Given the description of an element on the screen output the (x, y) to click on. 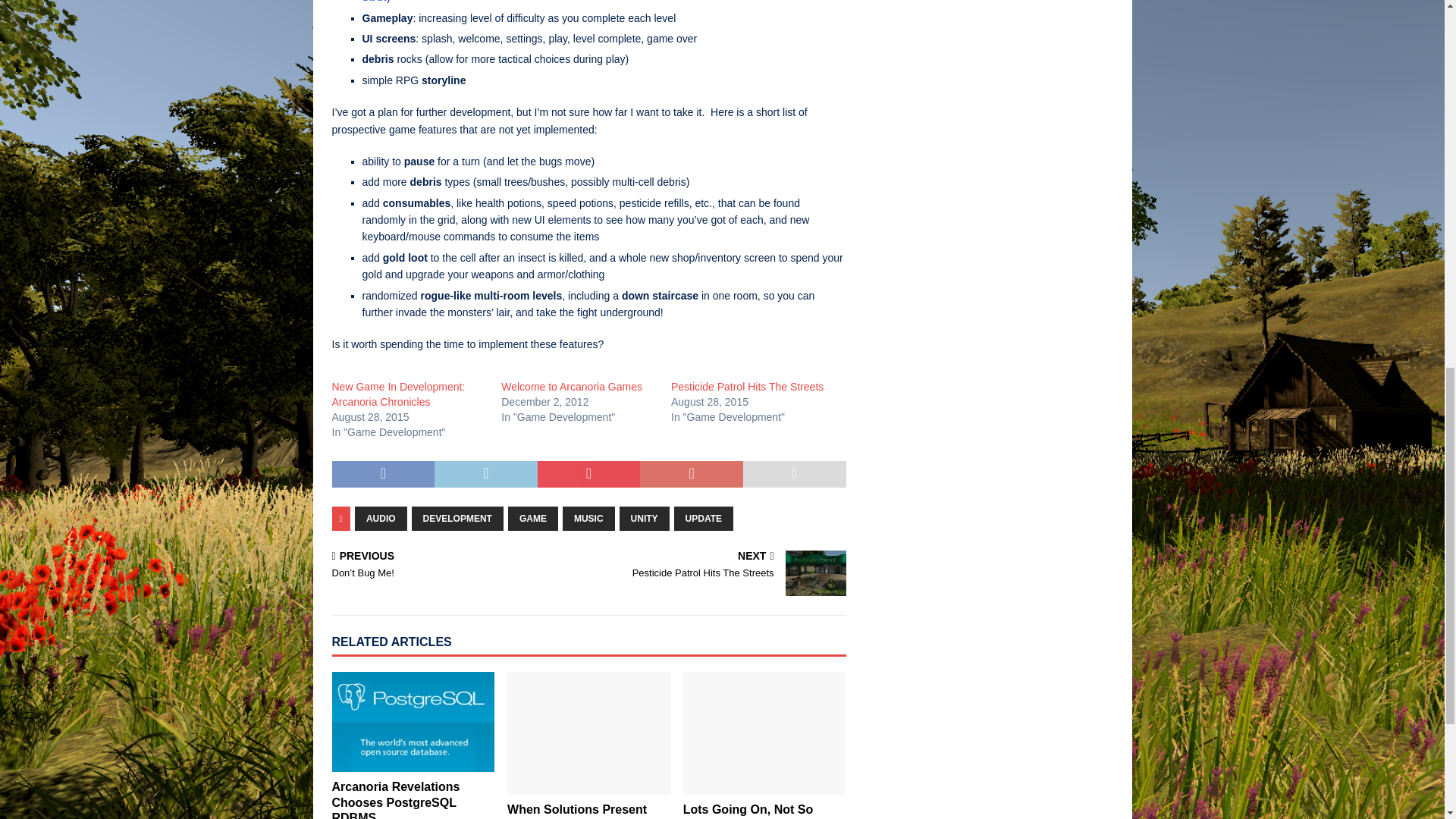
New Game In Development: Arcanoria Chronicles (398, 393)
Welcome to Arcanoria Games (571, 386)
